Given the description of an element on the screen output the (x, y) to click on. 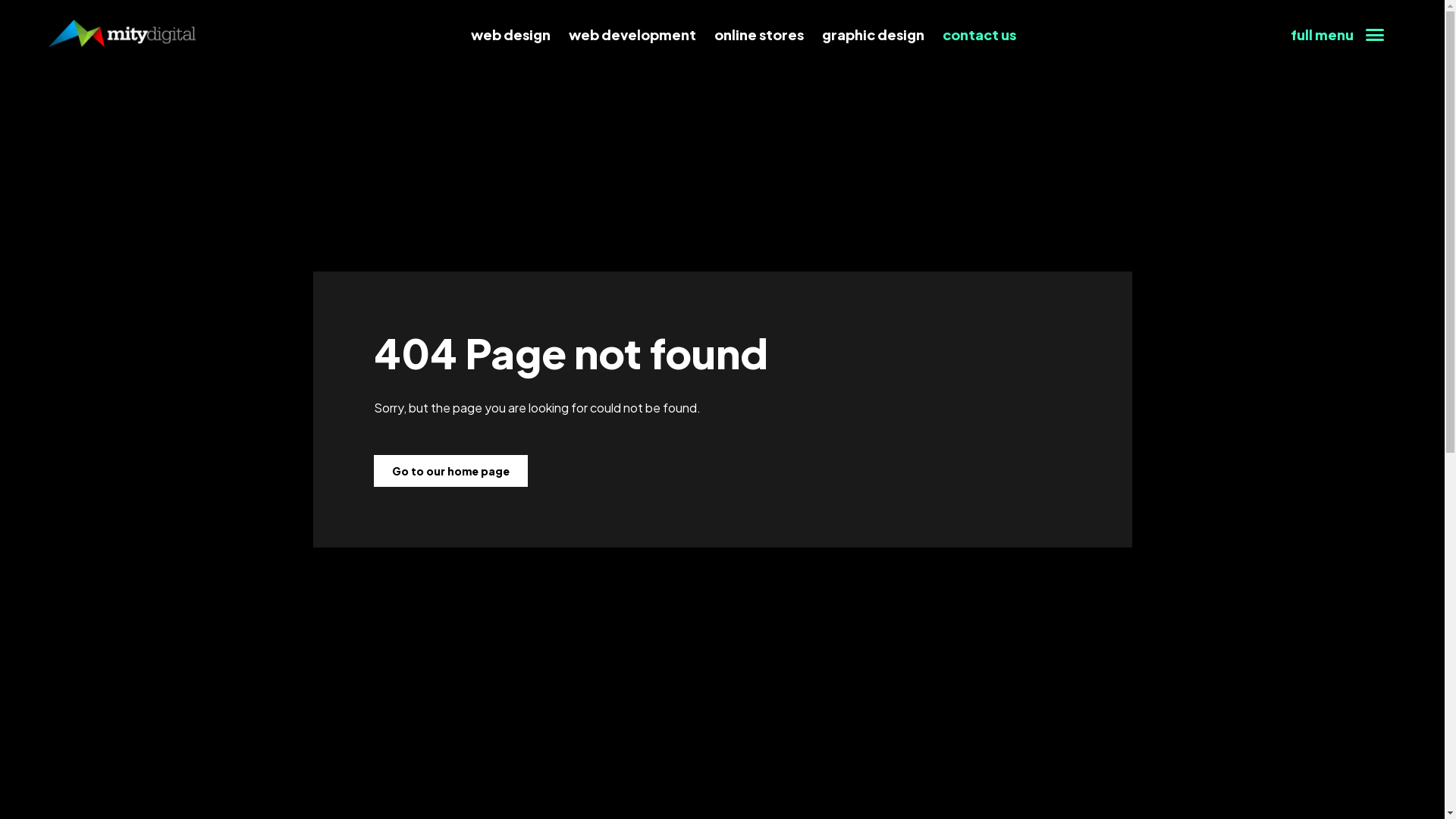
online stores Element type: text (758, 34)
web design Element type: text (510, 34)
contact us Element type: text (979, 34)
web development Element type: text (632, 34)
Go to our home page Element type: text (450, 471)
full menu Element type: text (1336, 34)
graphic design Element type: text (873, 34)
